Given the description of an element on the screen output the (x, y) to click on. 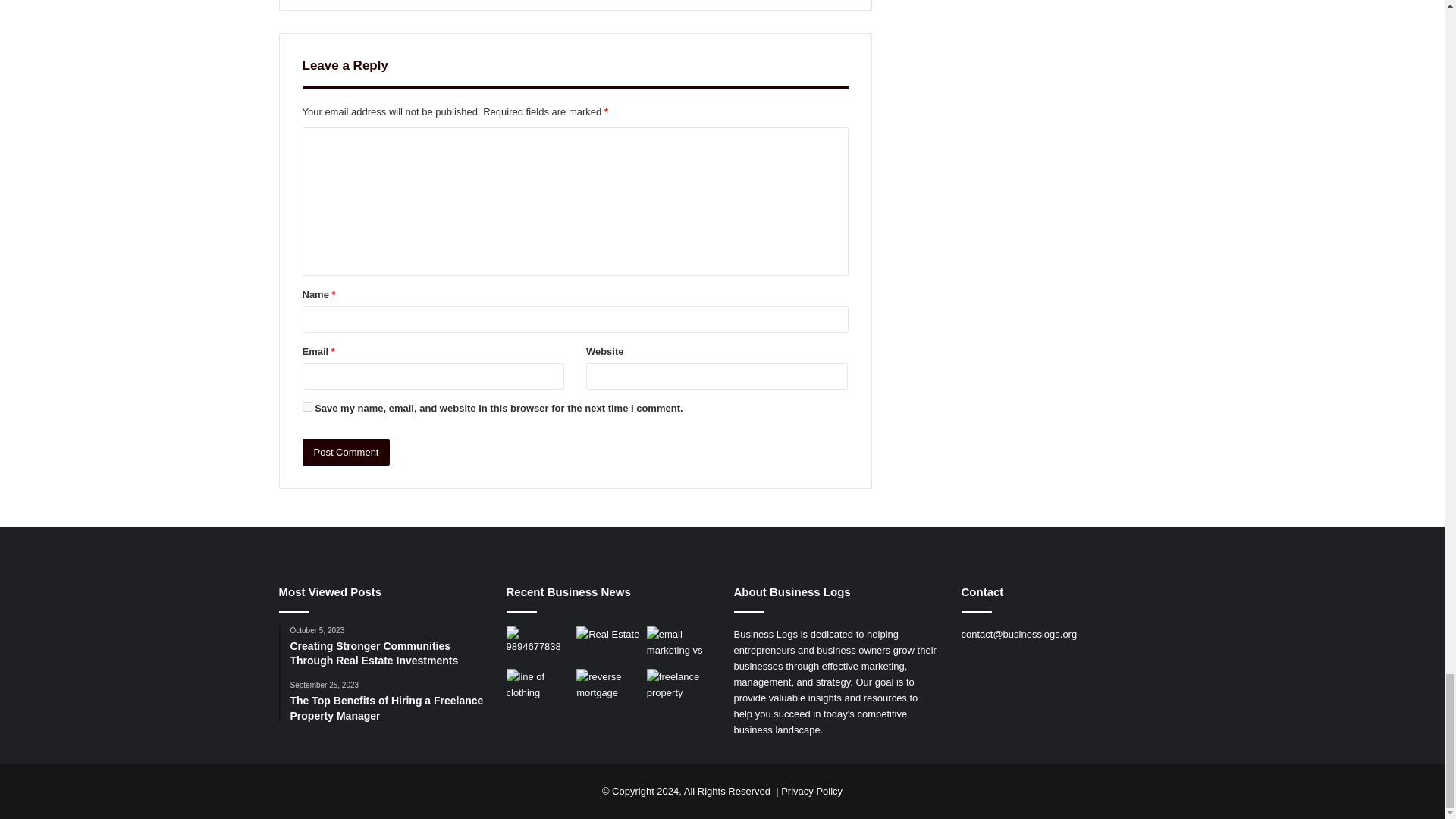
Post Comment (345, 452)
yes (306, 406)
